Given the description of an element on the screen output the (x, y) to click on. 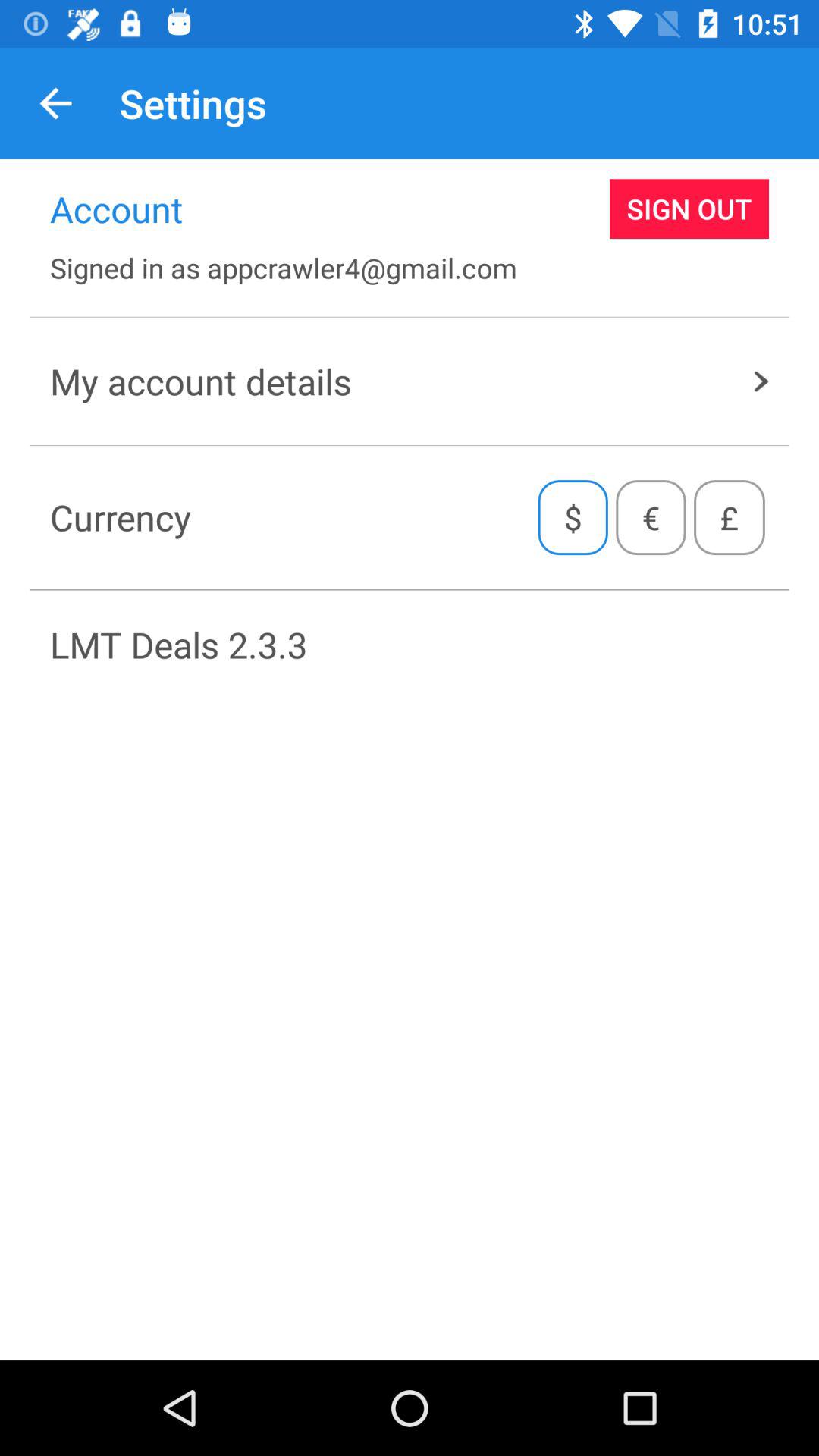
turn on the sign out icon (688, 208)
